Given the description of an element on the screen output the (x, y) to click on. 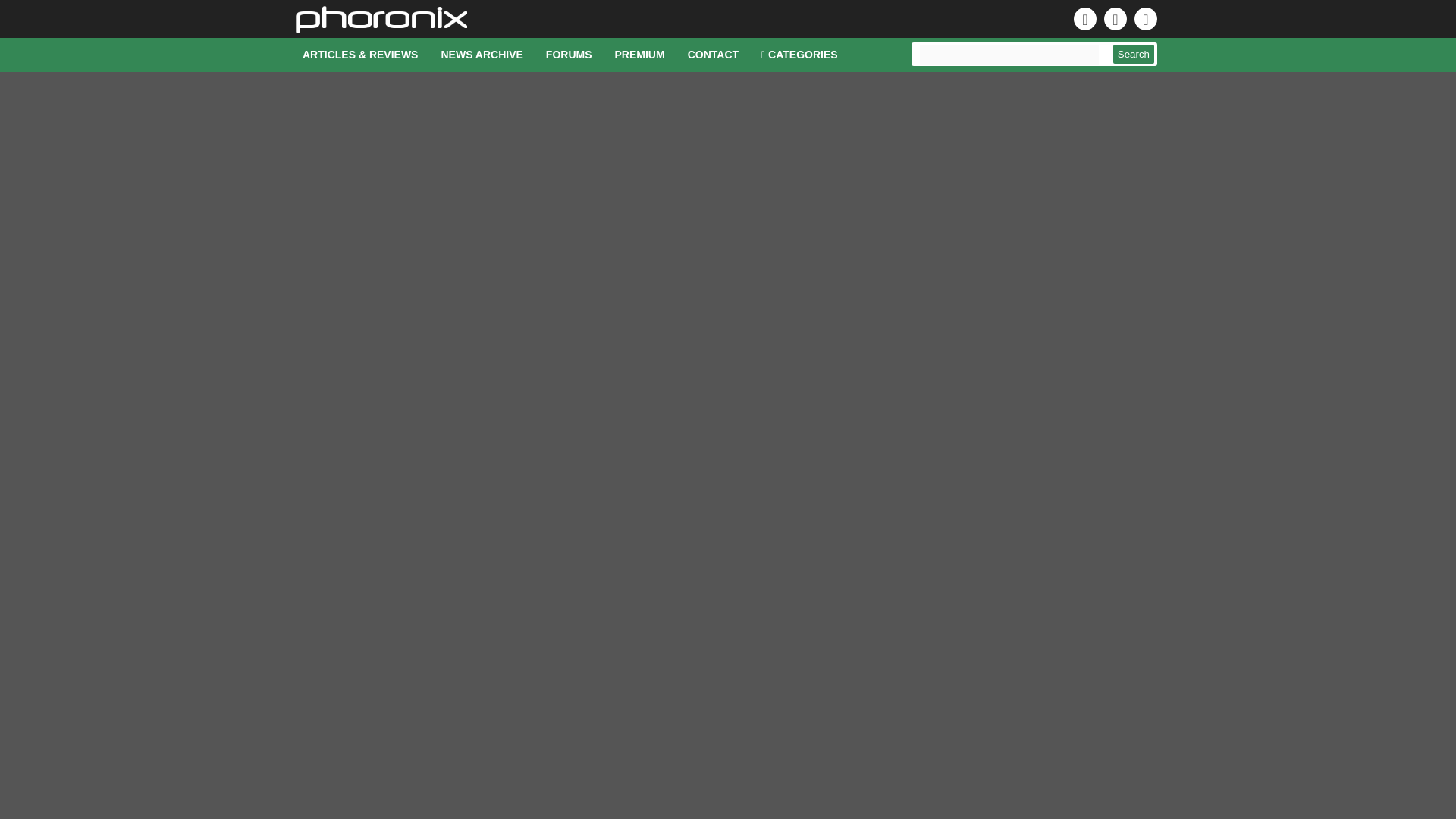
FORUMS (569, 54)
NEWS ARCHIVE (481, 54)
Search (1133, 54)
CONTACT (713, 54)
Search (1133, 54)
PREMIUM (640, 54)
